Given the description of an element on the screen output the (x, y) to click on. 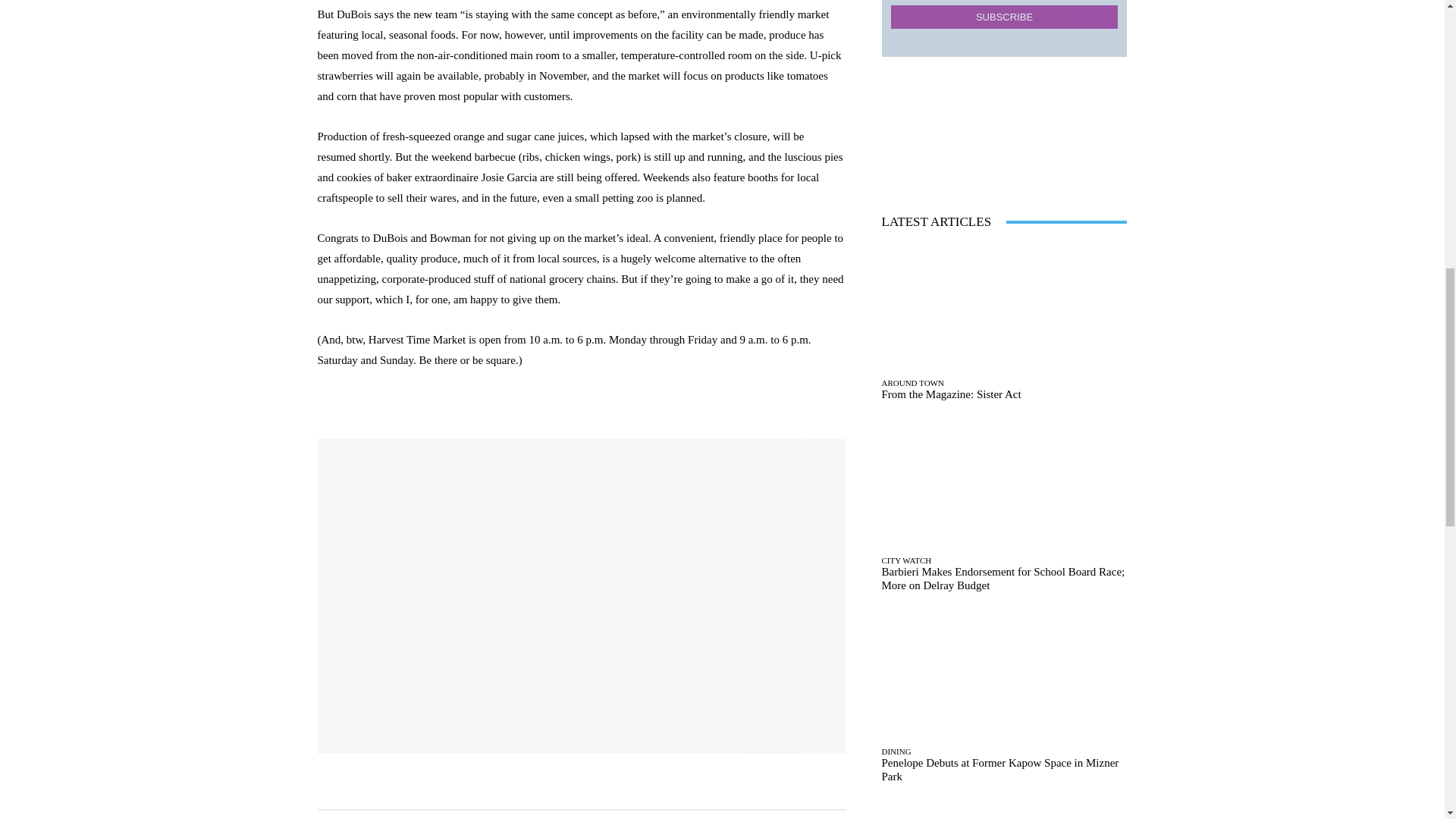
SUBSCRIBE (1003, 16)
